Given the description of an element on the screen output the (x, y) to click on. 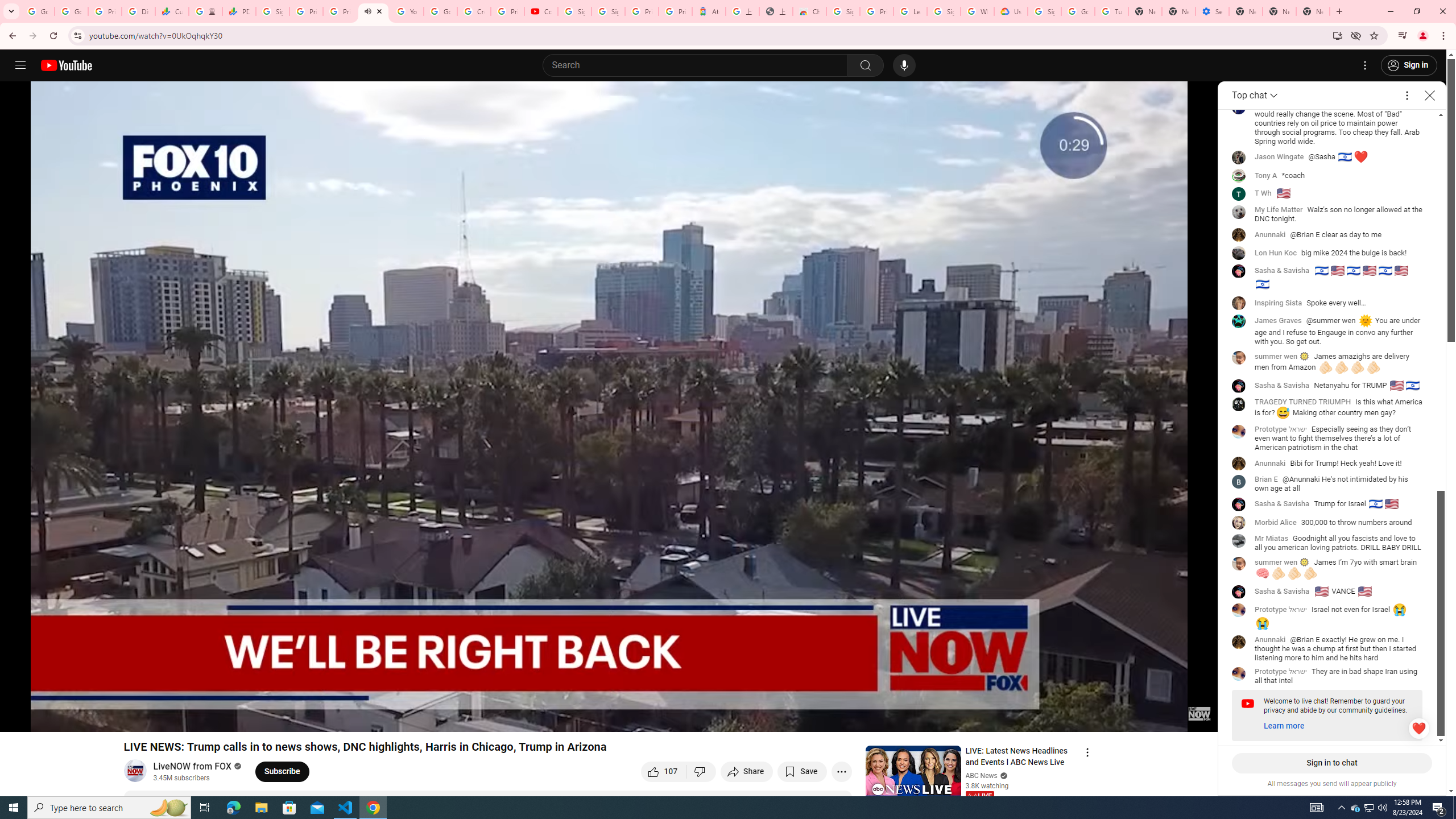
Autoplay is on (1060, 718)
Atour Hotel - Google hotels (708, 11)
Miniplayer (i) (1142, 718)
New Tab (1313, 11)
Live Chat mode selection (1256, 95)
Play (k) (20, 718)
Subtitles/closed captions unavailable (1088, 718)
